Given the description of an element on the screen output the (x, y) to click on. 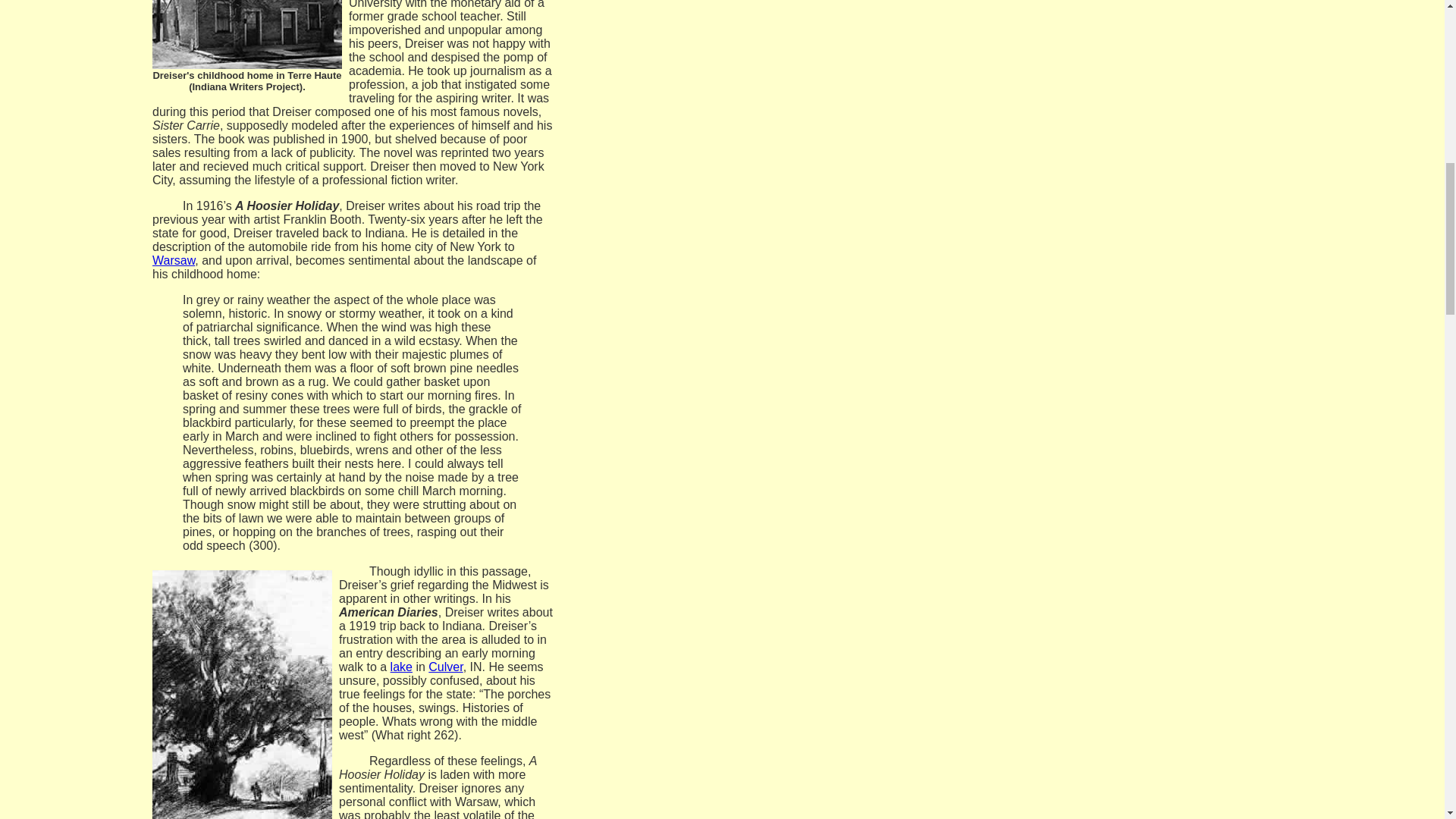
lake (401, 666)
Culver (445, 666)
Warsaw (173, 259)
